Given the description of an element on the screen output the (x, y) to click on. 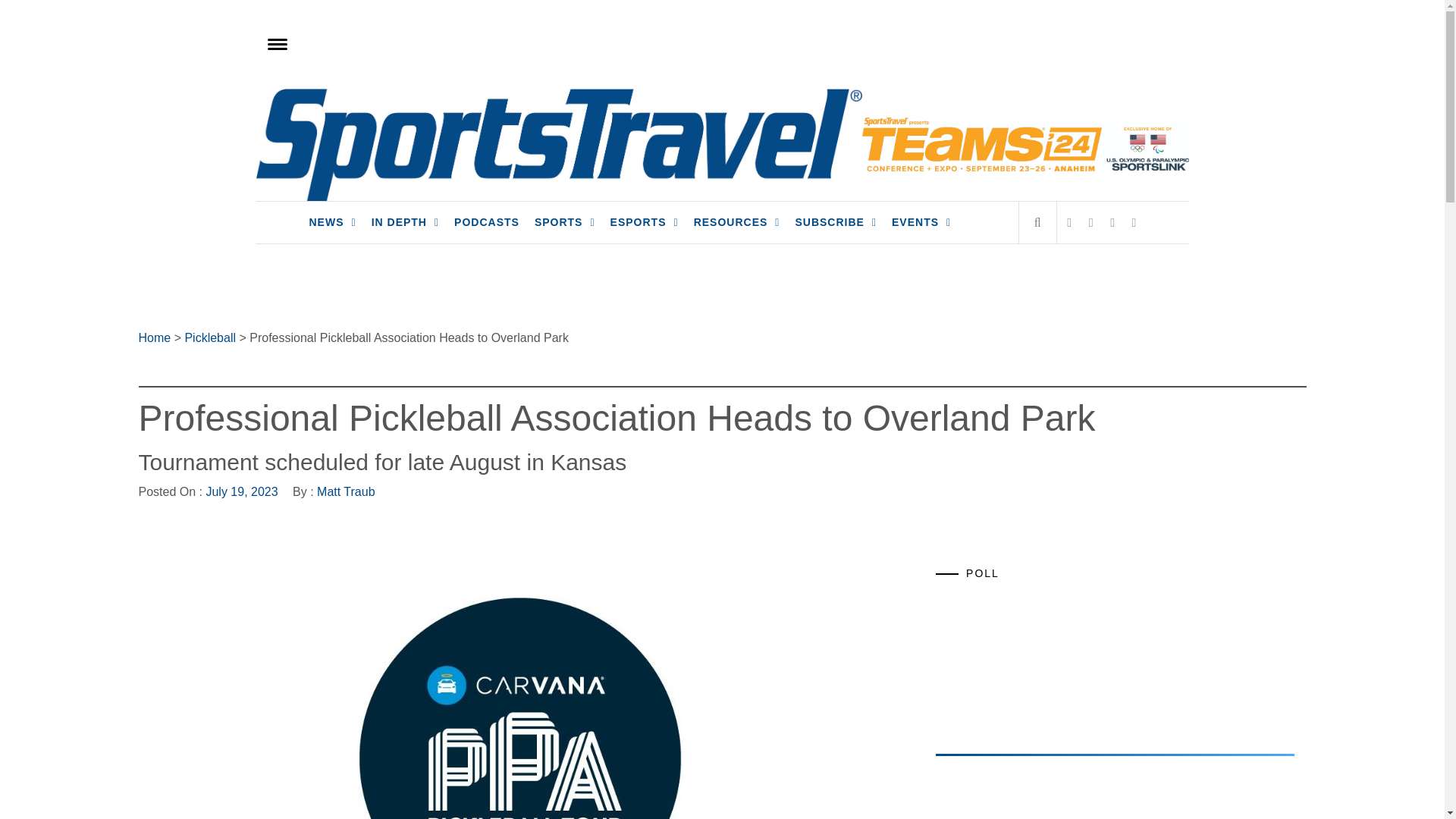
RESOURCES (736, 222)
Interaction questions (1115, 661)
IN DEPTH (405, 222)
3rd party ad content (1049, 793)
ESPORTS (643, 222)
NEWS (332, 222)
SportsTravel (354, 108)
SPORTS (564, 222)
PODCASTS (486, 222)
